Given the description of an element on the screen output the (x, y) to click on. 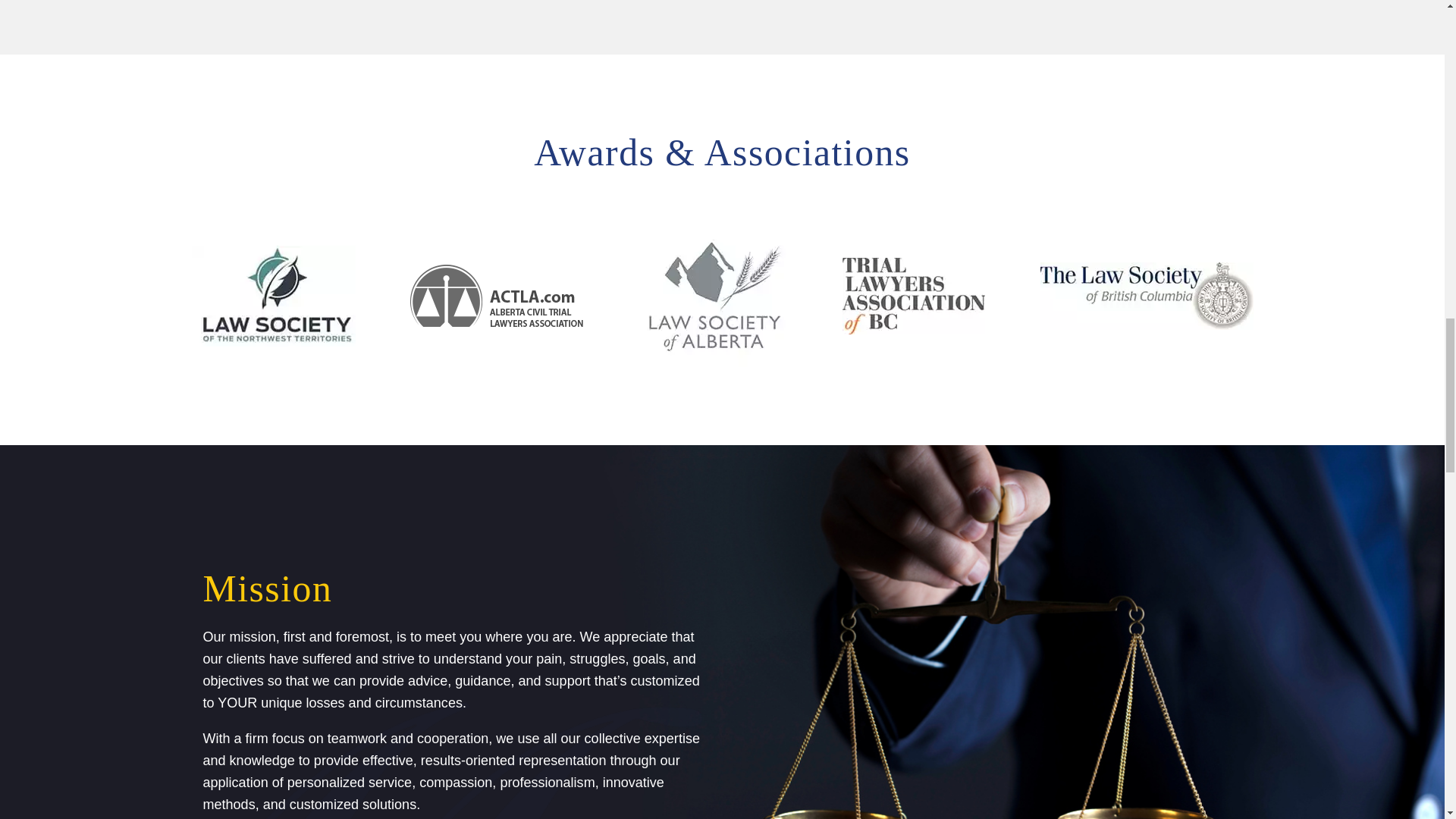
Alberta civil trial lawyers association (496, 295)
Law society of british columbia (1147, 296)
Law society of alberta (713, 296)
Law society of the northwest territories of canada (272, 295)
Trial lawyers association of bc tlabc (914, 295)
